Given the description of an element on the screen output the (x, y) to click on. 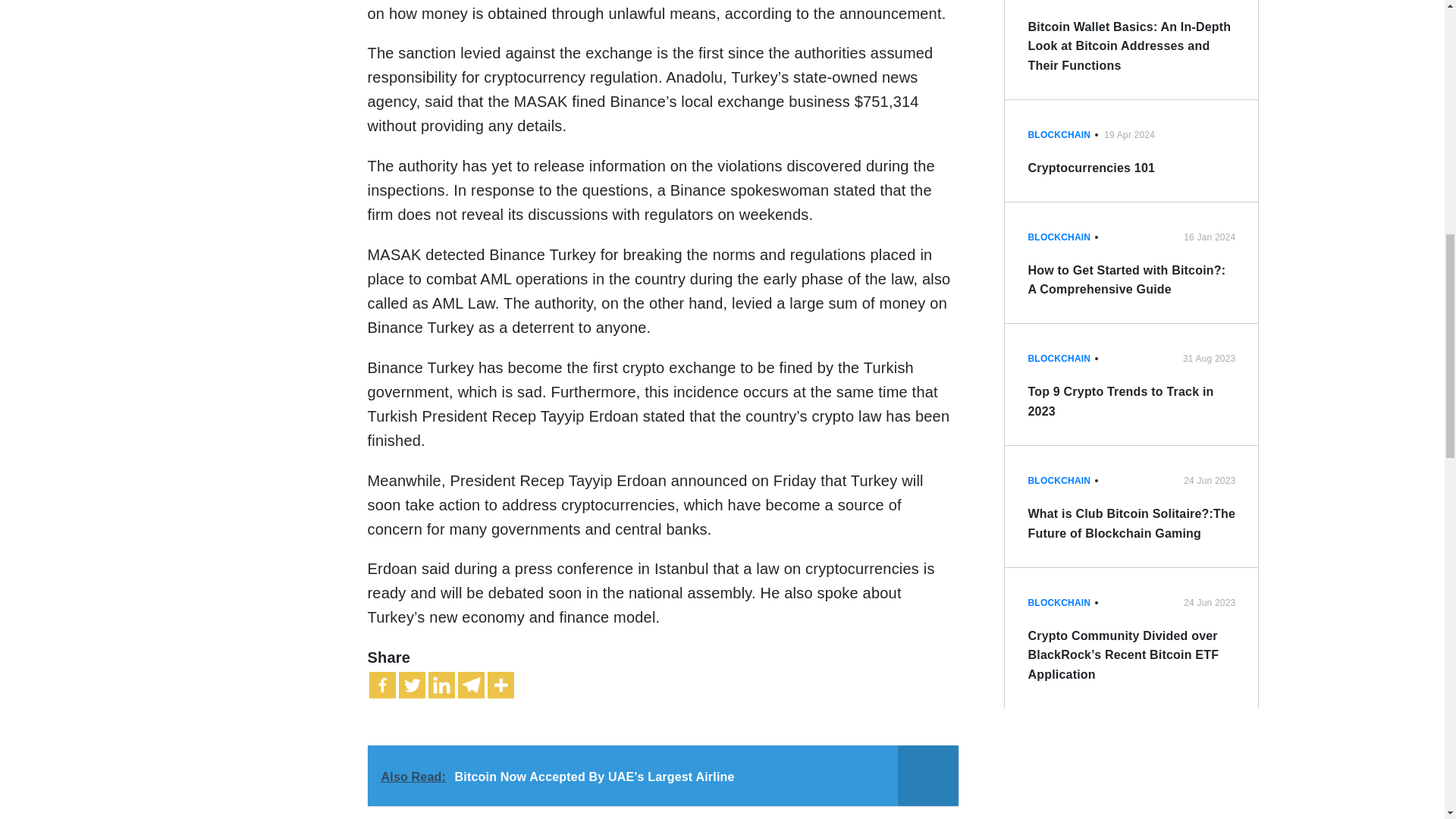
Twitter (411, 684)
More (499, 684)
Linkedin (441, 684)
Telegram (471, 684)
Also Read:  Bitcoin Now Accepted By UAE's Largest Airline (662, 775)
Facebook (381, 684)
